Given the description of an element on the screen output the (x, y) to click on. 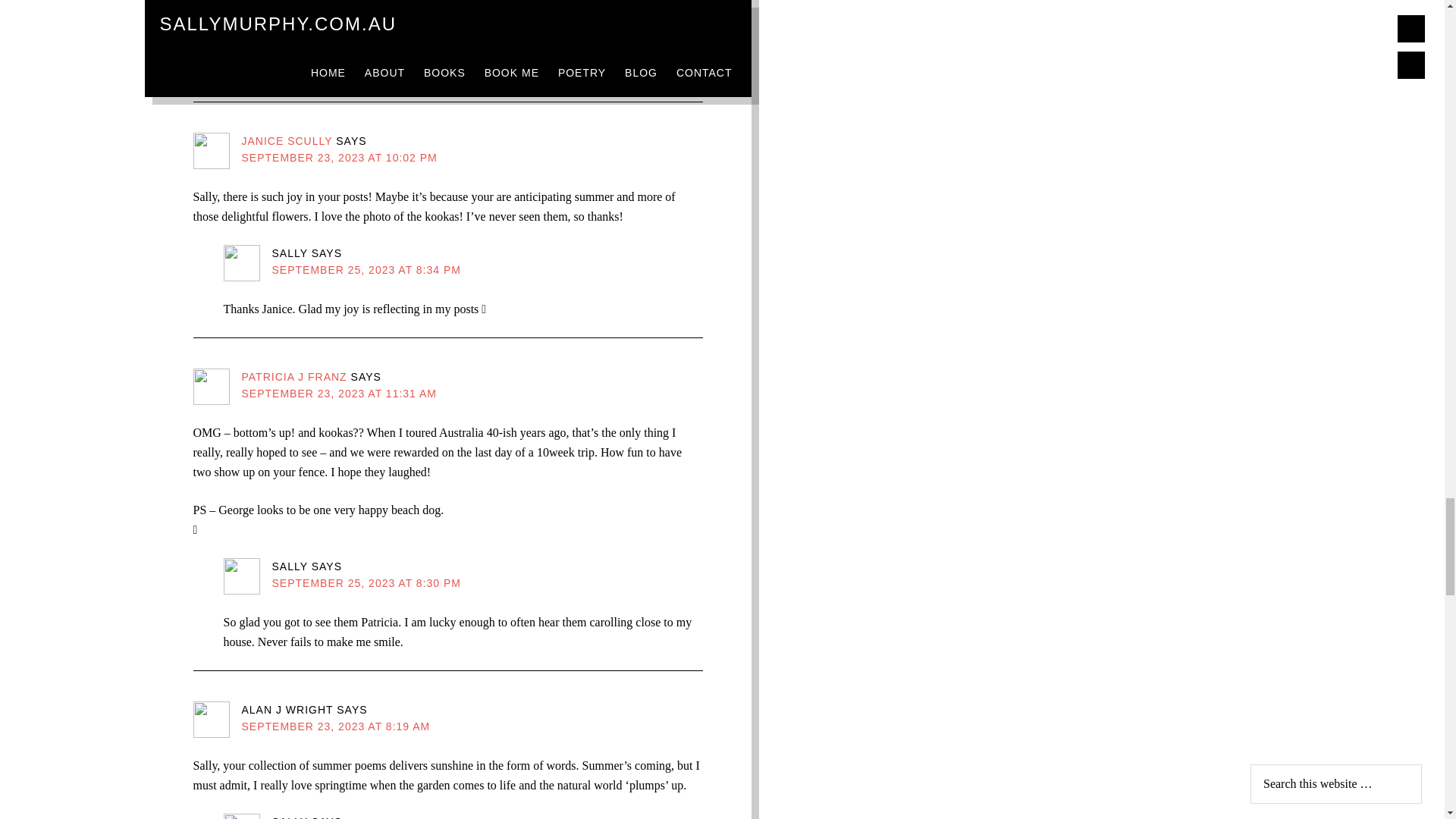
JANICE SCULLY (286, 141)
SEPTEMBER 23, 2023 AT 10:02 PM (338, 157)
SEPTEMBER 25, 2023 AT 8:30 PM (365, 582)
SEPTEMBER 25, 2023 AT 8:34 PM (365, 269)
SEPTEMBER 25, 2023 AT 8:34 PM (365, 33)
PATRICIA J FRANZ (293, 377)
SEPTEMBER 23, 2023 AT 8:19 AM (335, 726)
SEPTEMBER 23, 2023 AT 11:31 AM (338, 393)
